Given the description of an element on the screen output the (x, y) to click on. 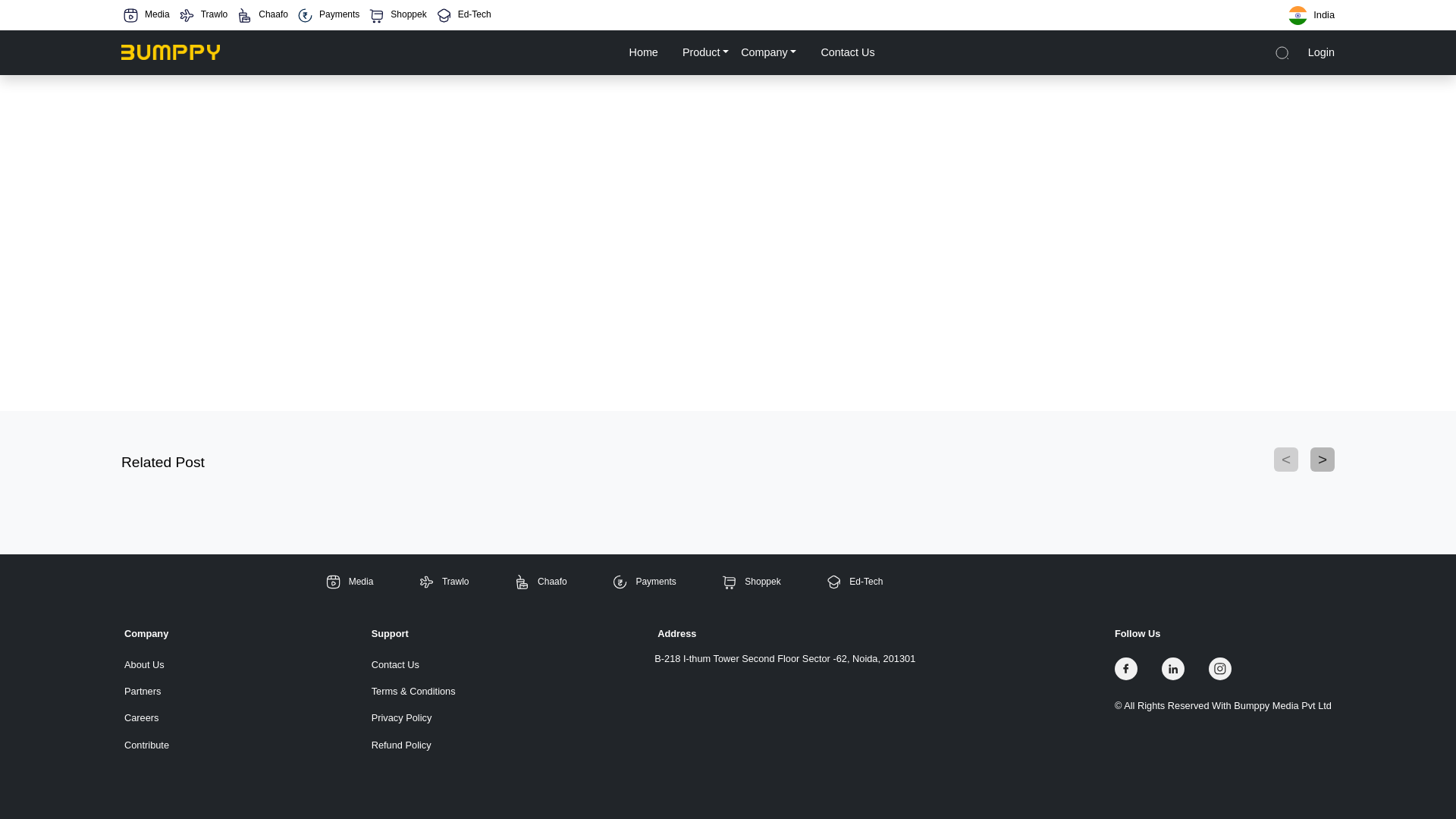
About Us (145, 664)
Contact Us (413, 664)
Contribute (145, 745)
Privacy Policy (413, 717)
Refund Policy (413, 745)
Careers (145, 717)
Partners (145, 691)
B-218 I-thum Tower Second Floor Sector -62, Noida, 201301 (784, 658)
